Given the description of an element on the screen output the (x, y) to click on. 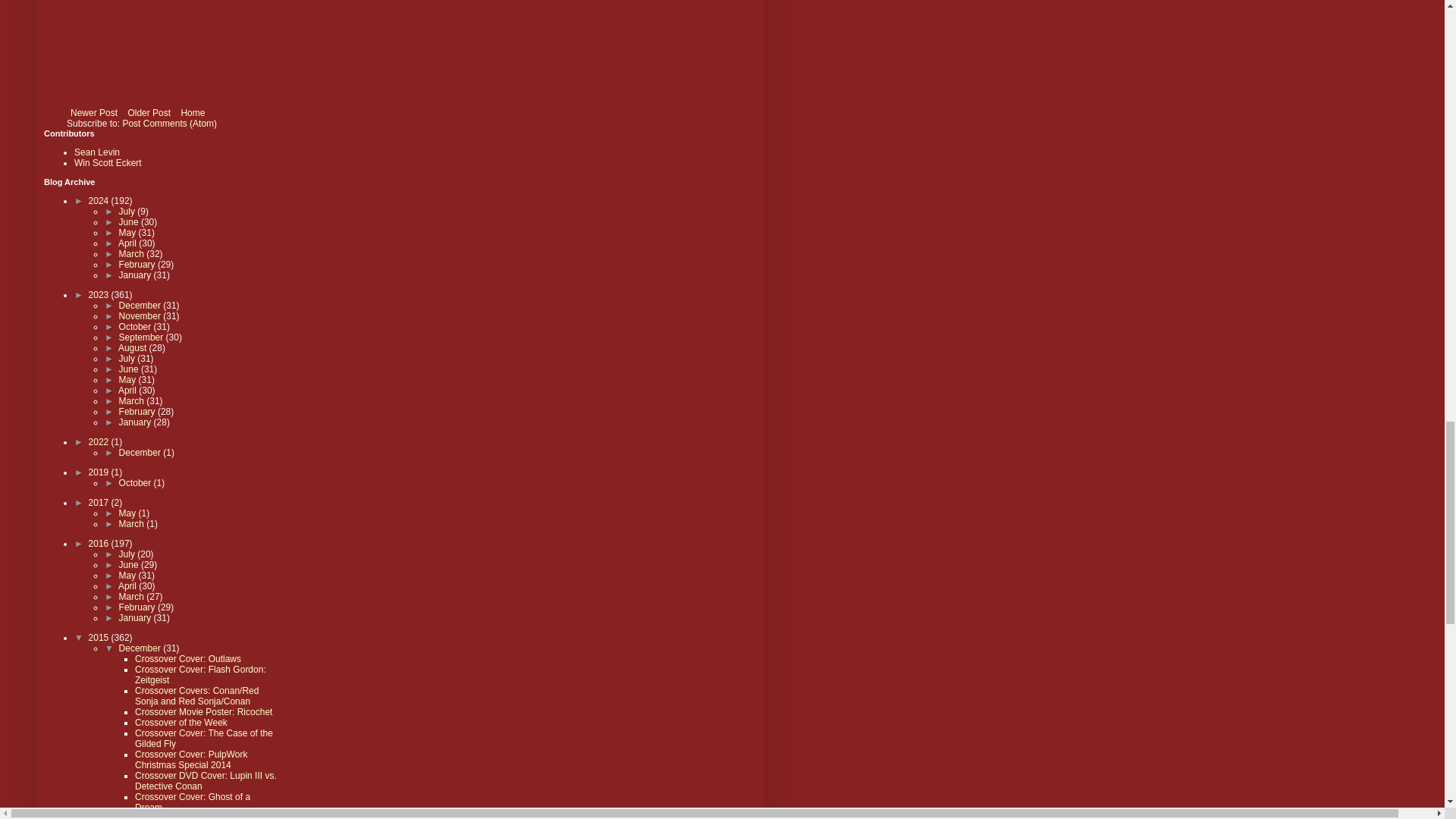
Newer Post (93, 113)
Older Post (148, 113)
